Given the description of an element on the screen output the (x, y) to click on. 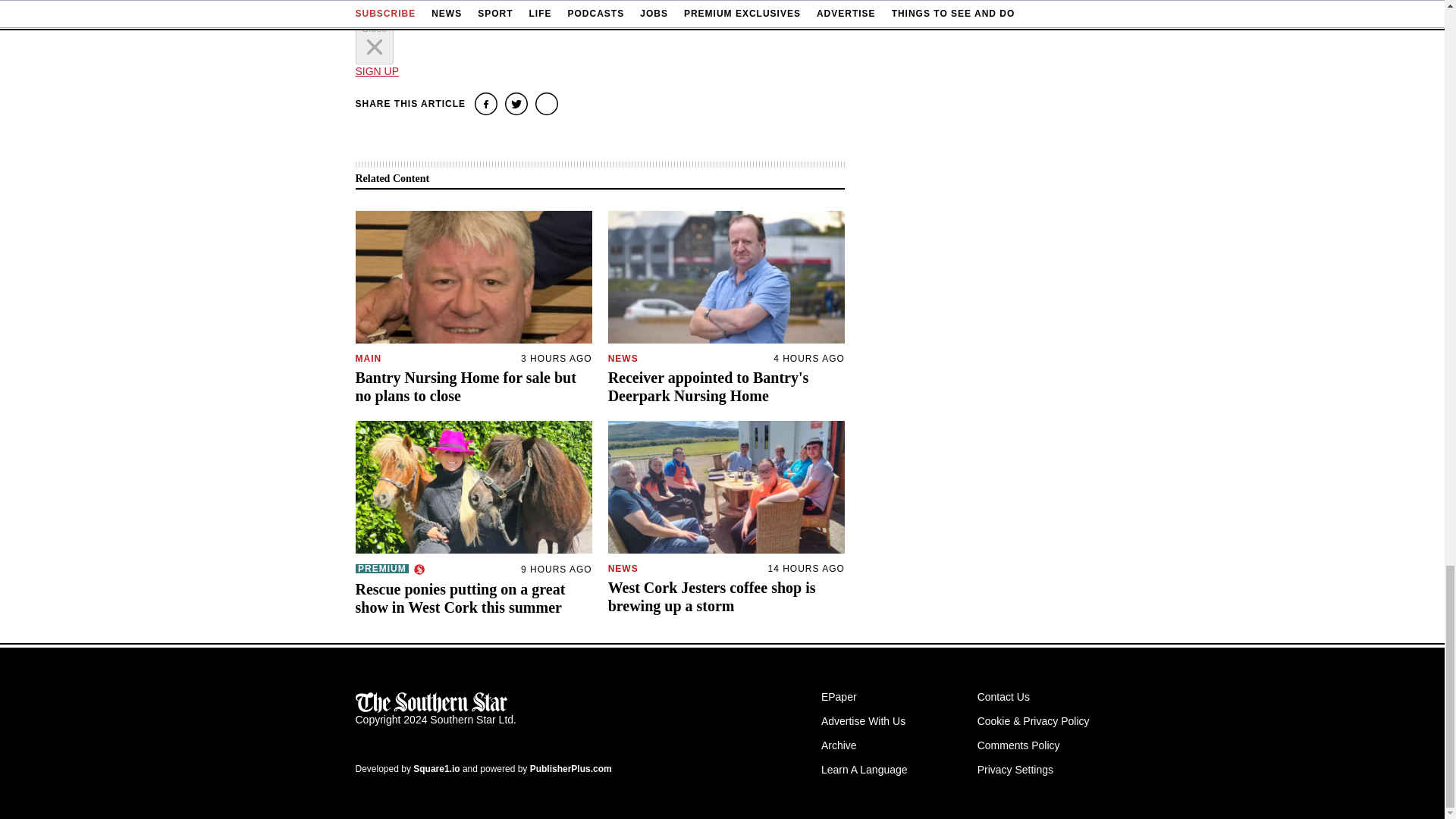
Learn A Language (864, 769)
Contact Us (1002, 696)
ePaper (839, 696)
Southern Star Ltd. logo (430, 702)
Advertise With Us (863, 720)
Comments Policy (1017, 745)
Archive (839, 745)
